Given the description of an element on the screen output the (x, y) to click on. 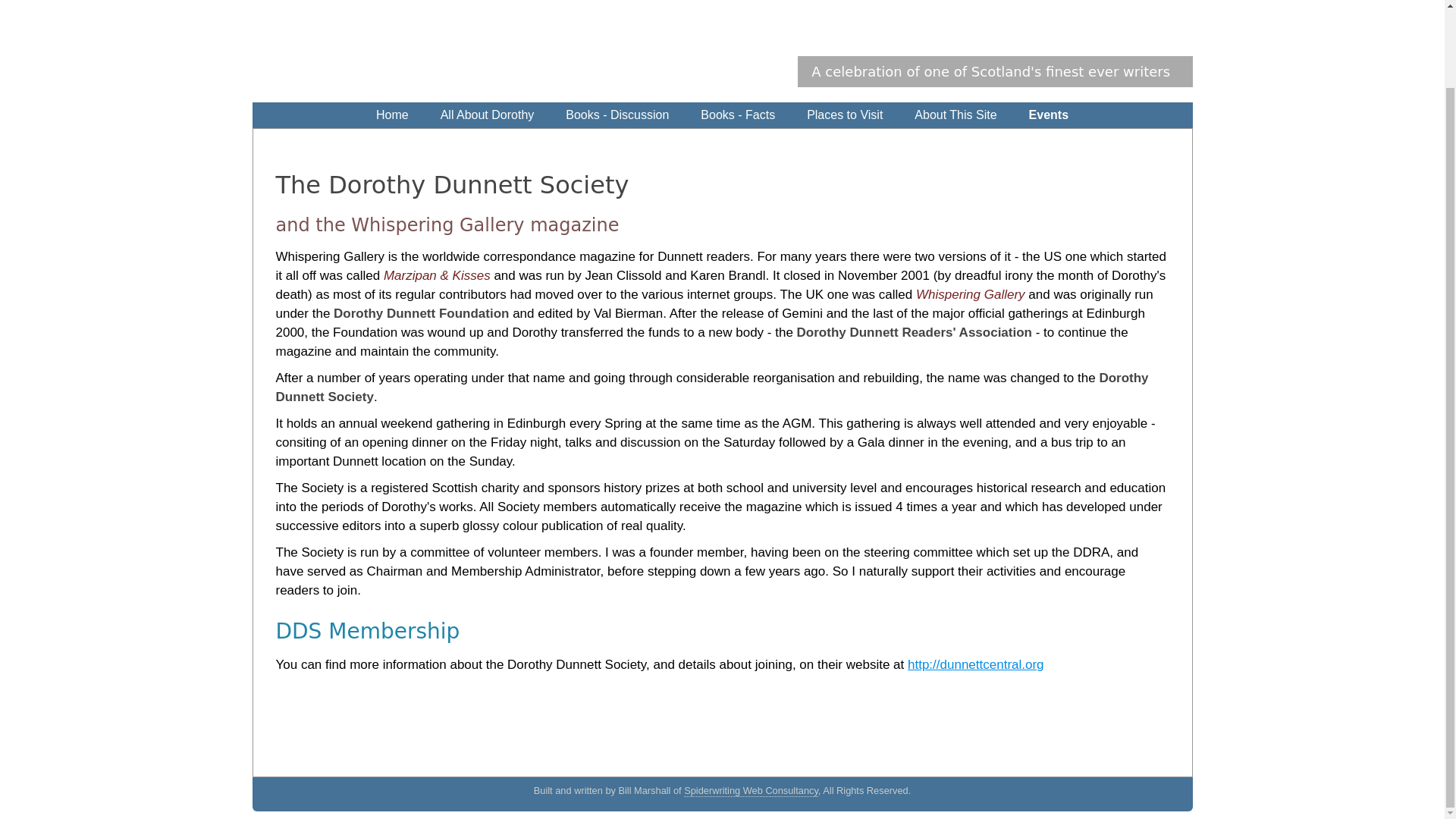
Home (392, 114)
Books - Facts (737, 114)
All About Dorothy (487, 114)
Books - Discussion (617, 114)
